Given the description of an element on the screen output the (x, y) to click on. 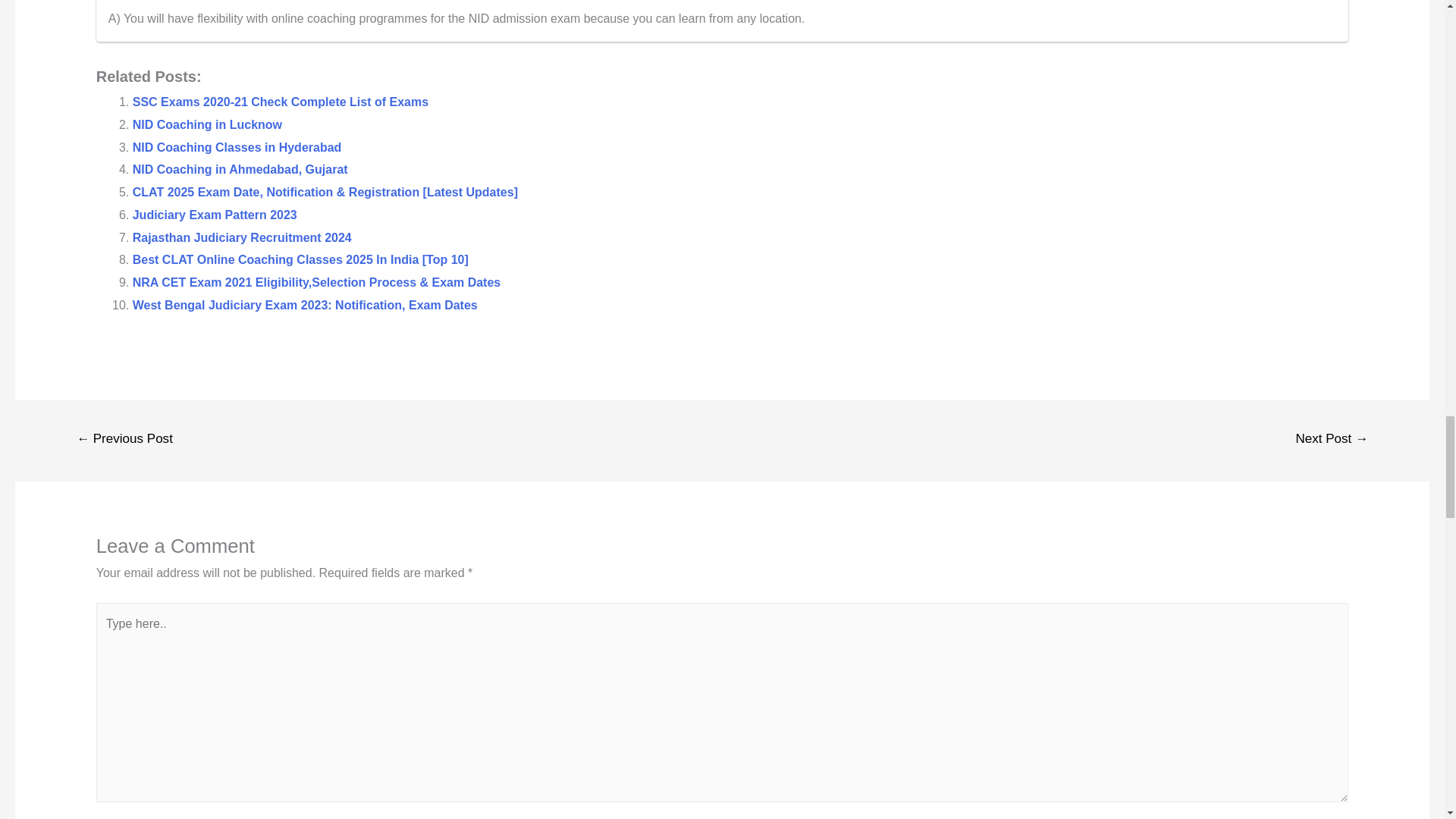
NID Coaching in Lucknow (207, 124)
NID Coaching Classes in Hyderabad (237, 146)
West Bengal Judiciary Exam 2023: Notification, Exam Dates (304, 305)
NID Coaching in Ahmedabad, Gujarat (239, 169)
SSC Exams 2020-21 Check Complete List of Exams (280, 101)
Rajasthan Judiciary Recruitment 2024 (242, 237)
Judiciary Exam Pattern 2023 (214, 214)
